Given the description of an element on the screen output the (x, y) to click on. 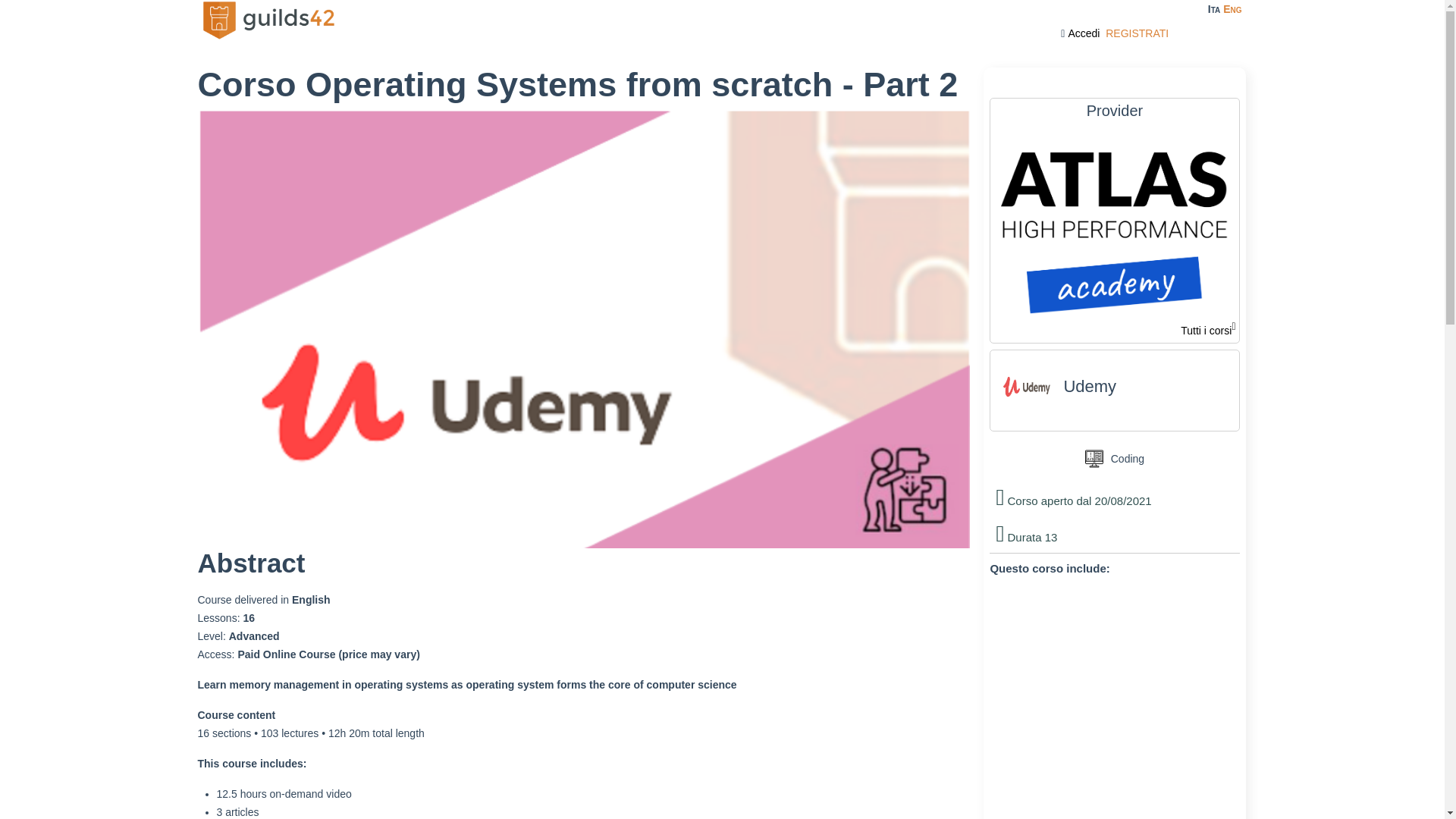
REGISTRATI (1137, 33)
Tutti i corsi (1207, 330)
Accedi (1083, 33)
Eng (1232, 9)
